Given the description of an element on the screen output the (x, y) to click on. 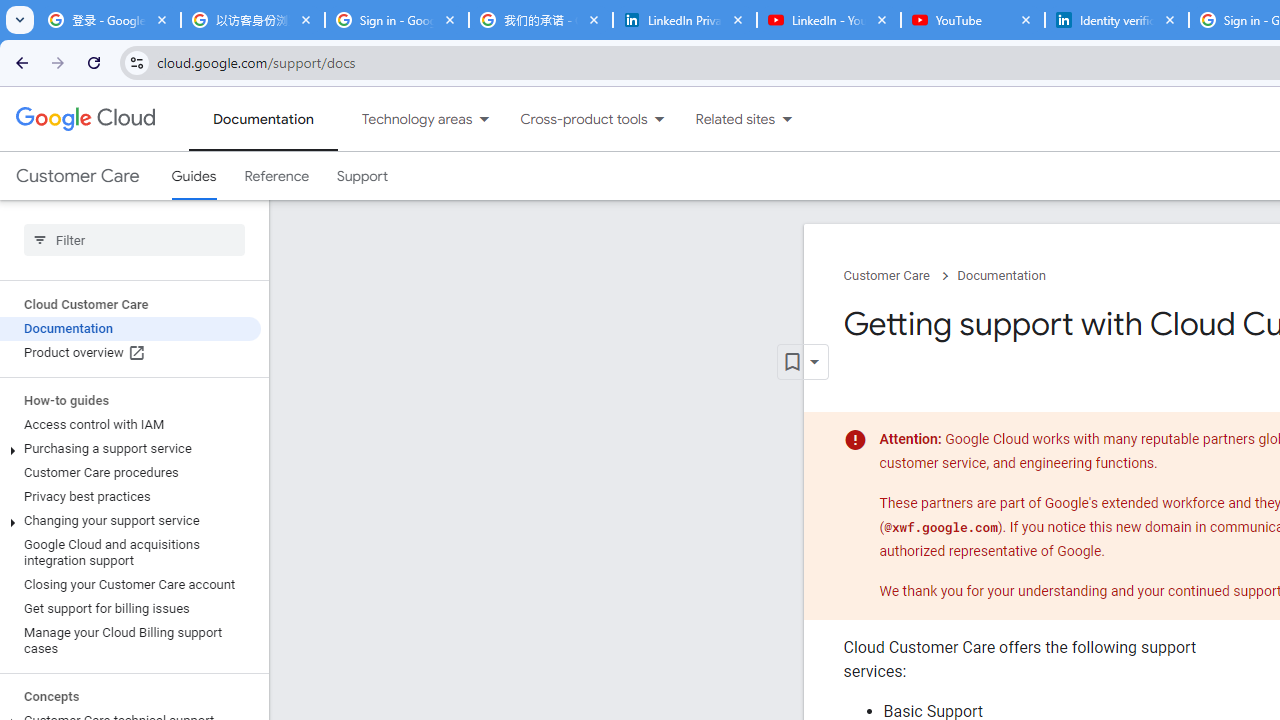
Documentation, selected (263, 119)
Open dropdown (802, 362)
Changing your support service (130, 520)
Dropdown menu for Technology areas (484, 119)
Cross-product tools (571, 119)
Related sites (722, 119)
Manage your Cloud Billing support cases (130, 640)
Google Cloud and acquisitions integration support (130, 552)
Customer Care procedures (130, 472)
Access control with IAM (130, 425)
